Given the description of an element on the screen output the (x, y) to click on. 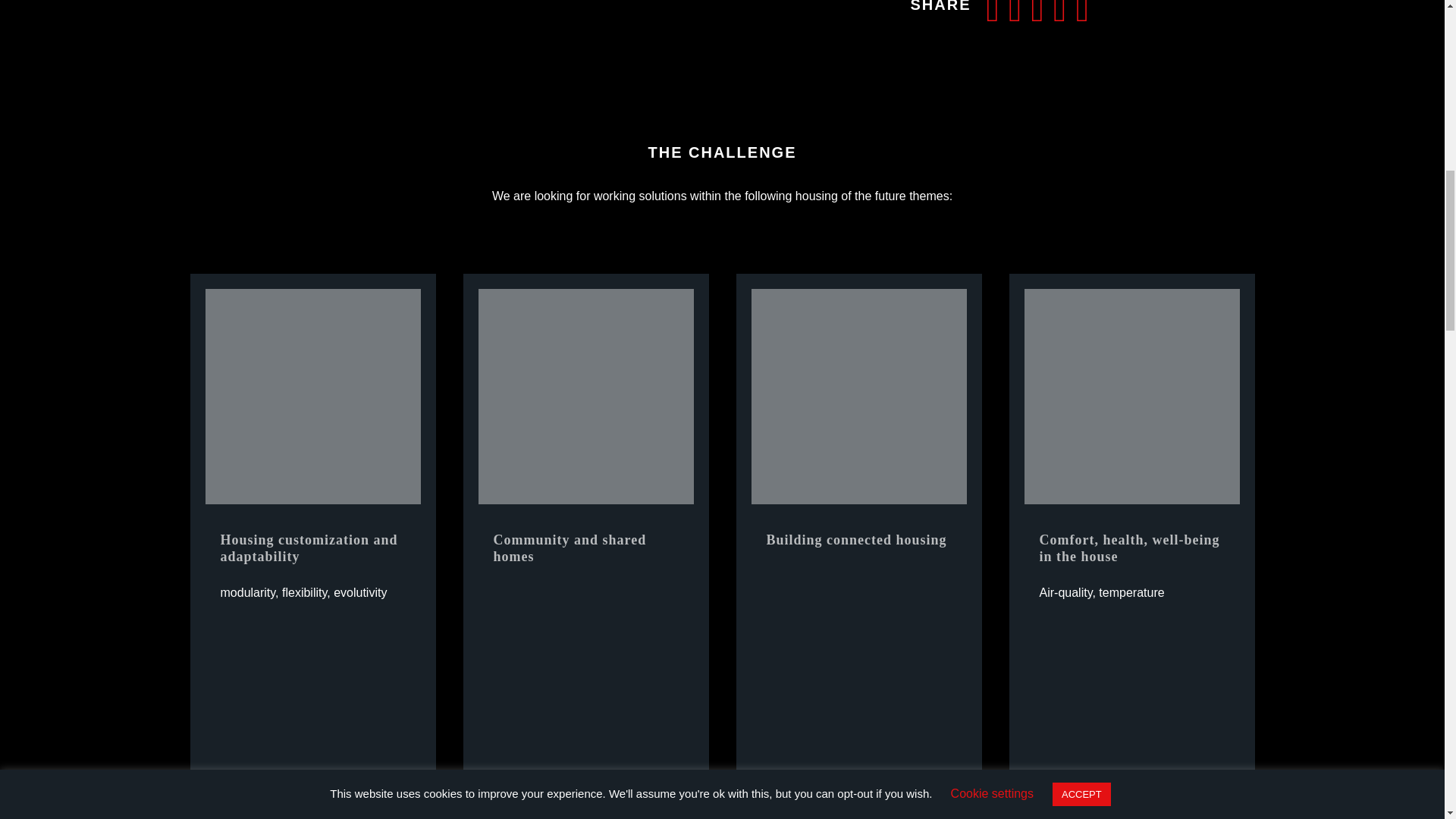
Building connected housing (858, 396)
Housing customization and adaptability (312, 396)
Comfort, health, well-being in the house (1131, 396)
Community and shared homes (585, 396)
